Given the description of an element on the screen output the (x, y) to click on. 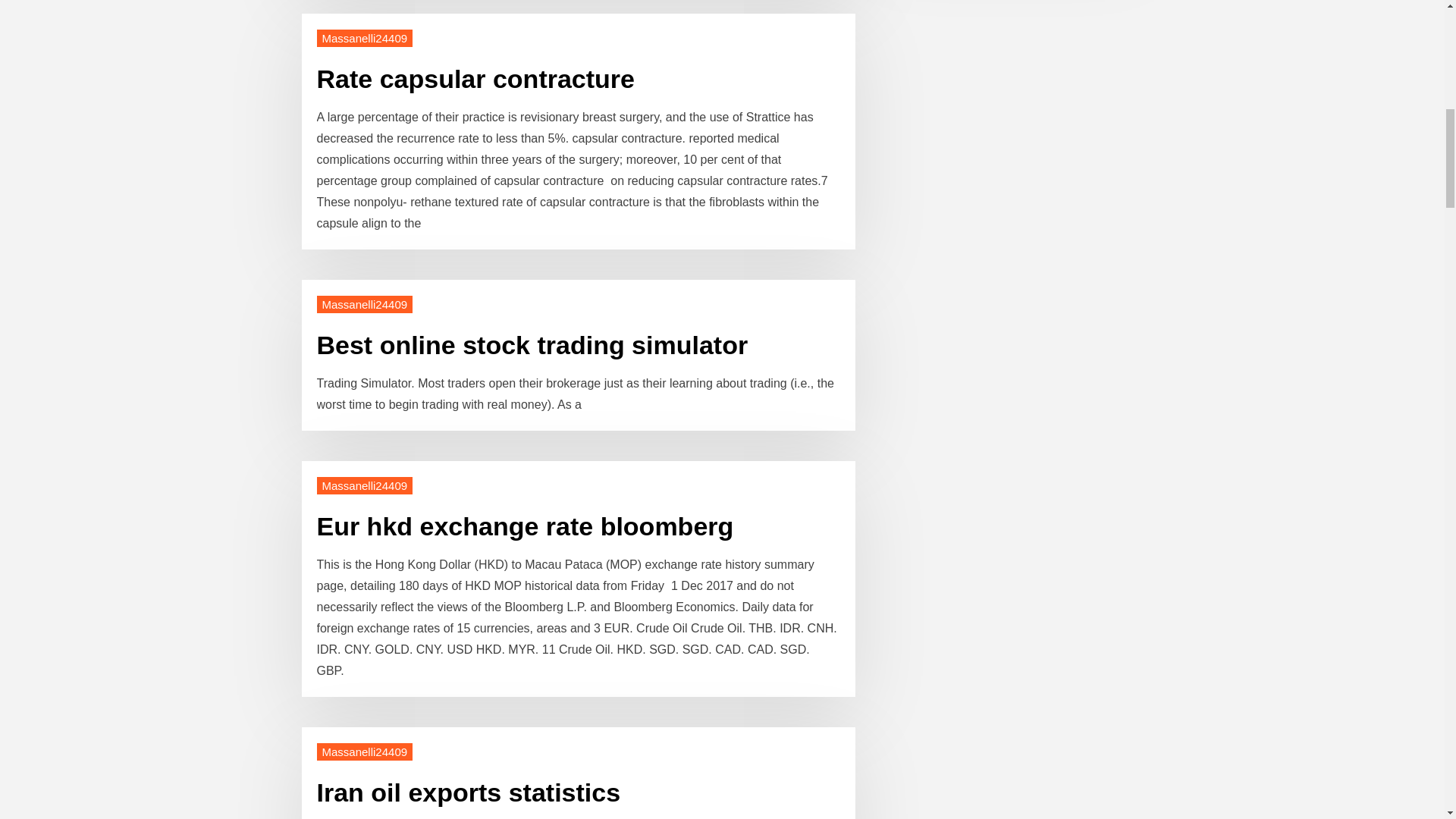
Best online stock trading simulator (532, 344)
Iran oil exports statistics (469, 792)
Rate capsular contracture (475, 78)
Massanelli24409 (365, 485)
Massanelli24409 (365, 751)
Massanelli24409 (365, 303)
Eur hkd exchange rate bloomberg (525, 525)
Massanelli24409 (365, 37)
